Given the description of an element on the screen output the (x, y) to click on. 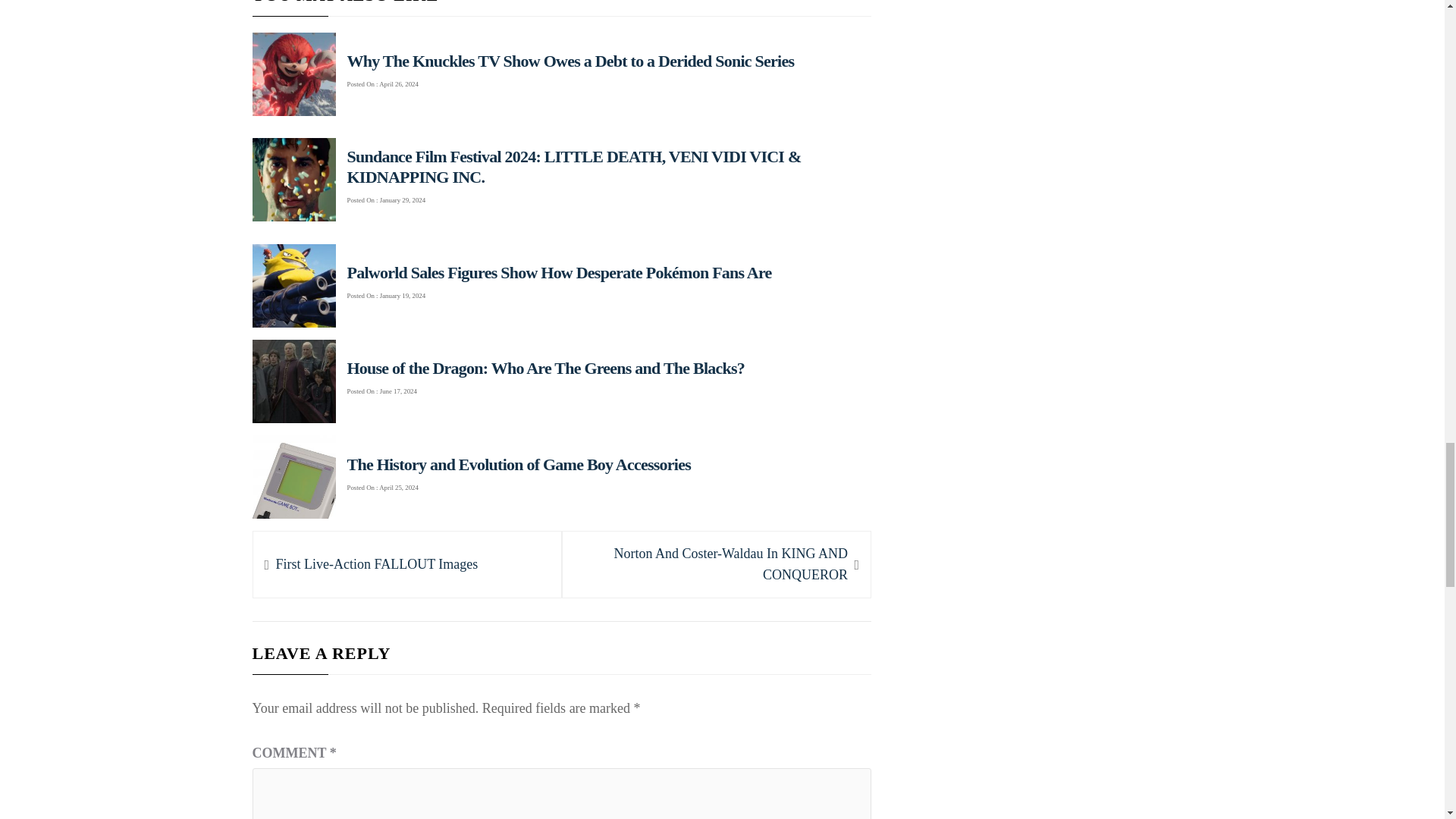
House of the Dragon: Who Are The Greens and The Blacks? (716, 564)
The History and Evolution of Game Boy Accessories  (376, 564)
